Given the description of an element on the screen output the (x, y) to click on. 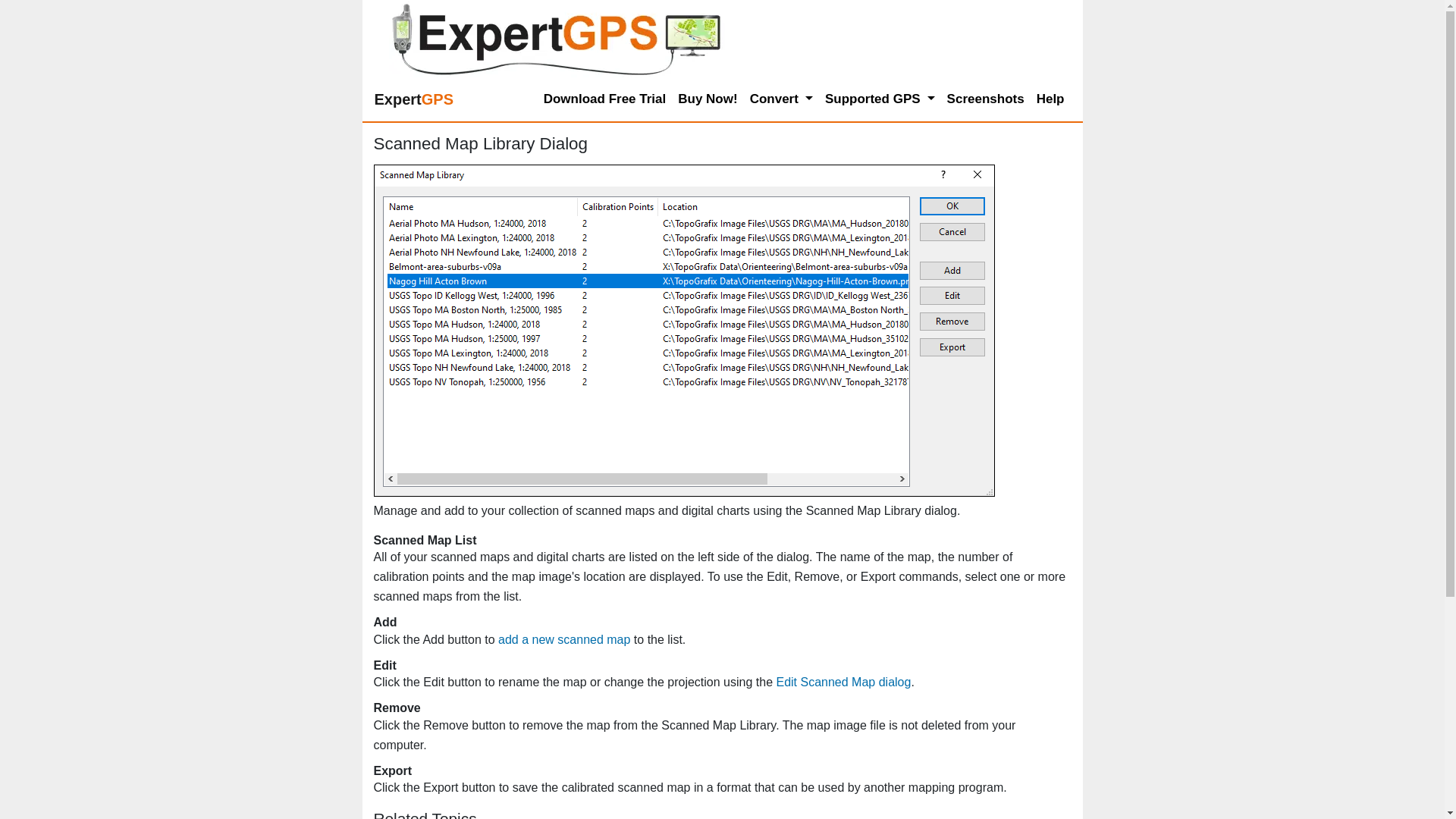
Download Free Trial (604, 99)
Download a fully-featured demo of ExpertGPS (604, 99)
ExpertGPS (414, 99)
ExpertGPS Map Software Home Page (414, 99)
